Given the description of an element on the screen output the (x, y) to click on. 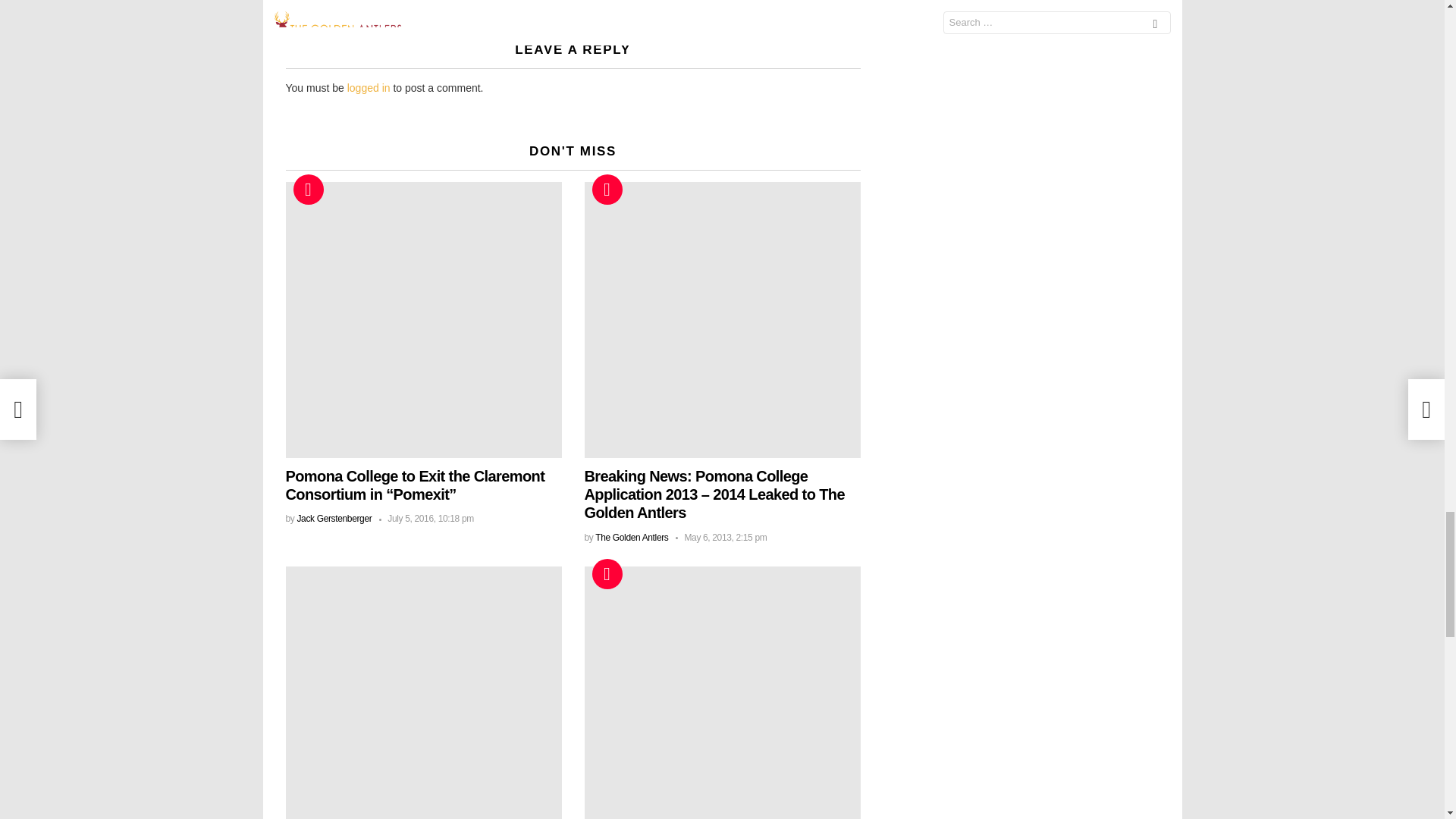
Hot (606, 189)
Hot (606, 573)
Posts by The Golden Antlers (631, 537)
Hot (307, 189)
Posts by Jack Gerstenberger (334, 518)
